Given the description of an element on the screen output the (x, y) to click on. 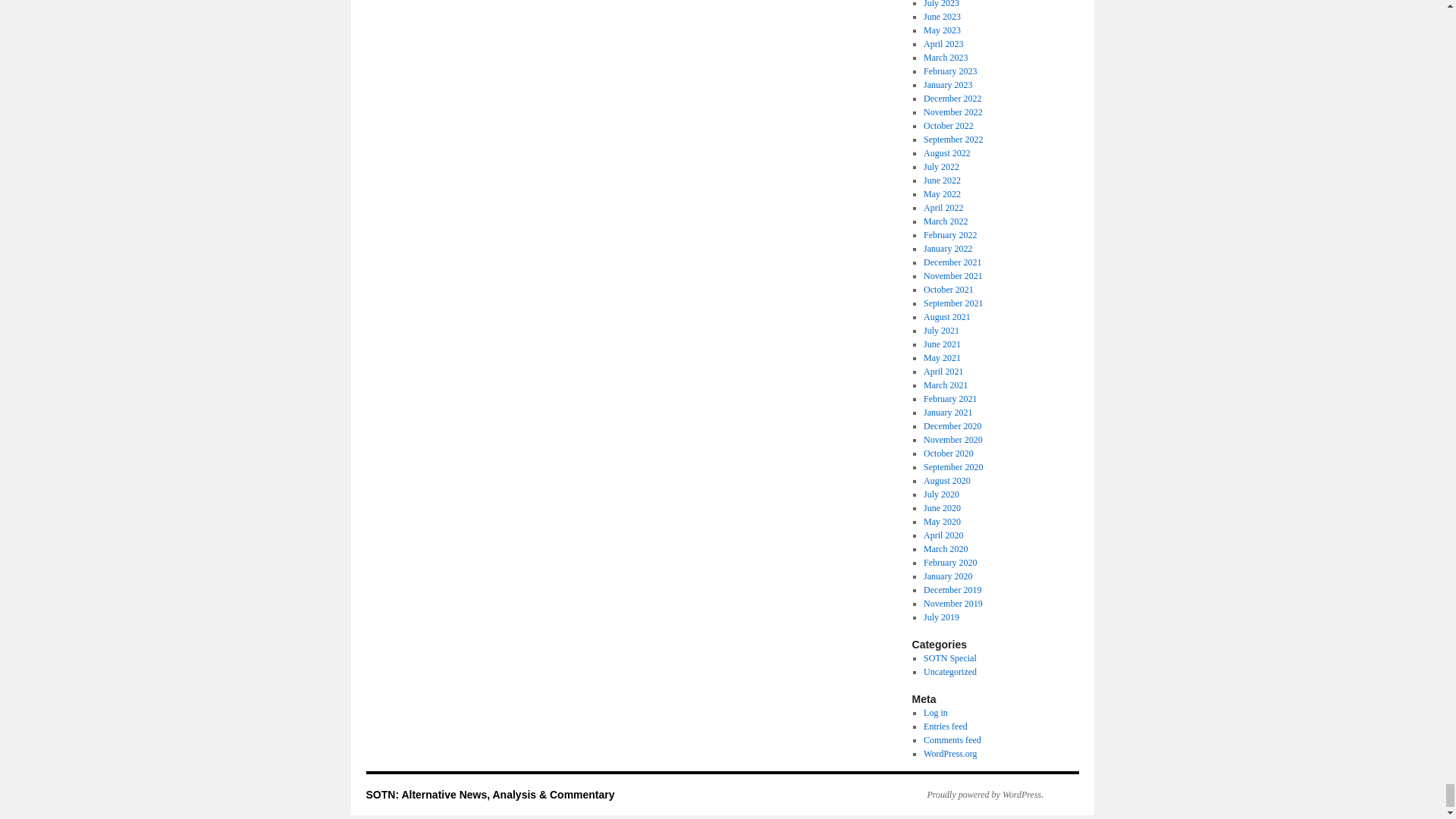
Semantic Personal Publishing Platform (977, 794)
